Given the description of an element on the screen output the (x, y) to click on. 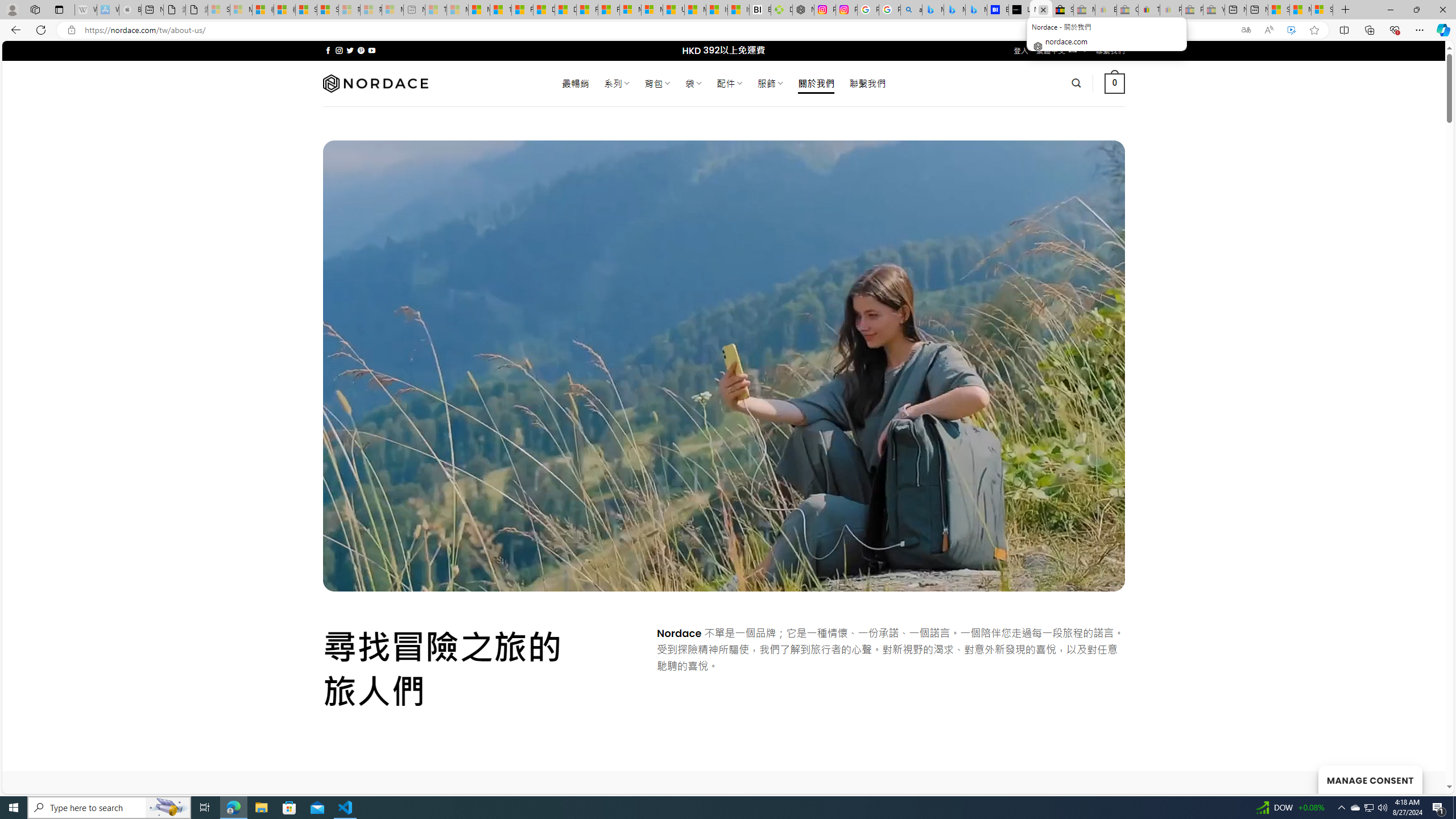
Payments Terms of Use | eBay.com - Sleeping (1170, 9)
Threats and offensive language policy | eBay (1149, 9)
Microsoft account | Account Checkup - Sleeping (392, 9)
Follow on Twitter (349, 50)
